Given the description of an element on the screen output the (x, y) to click on. 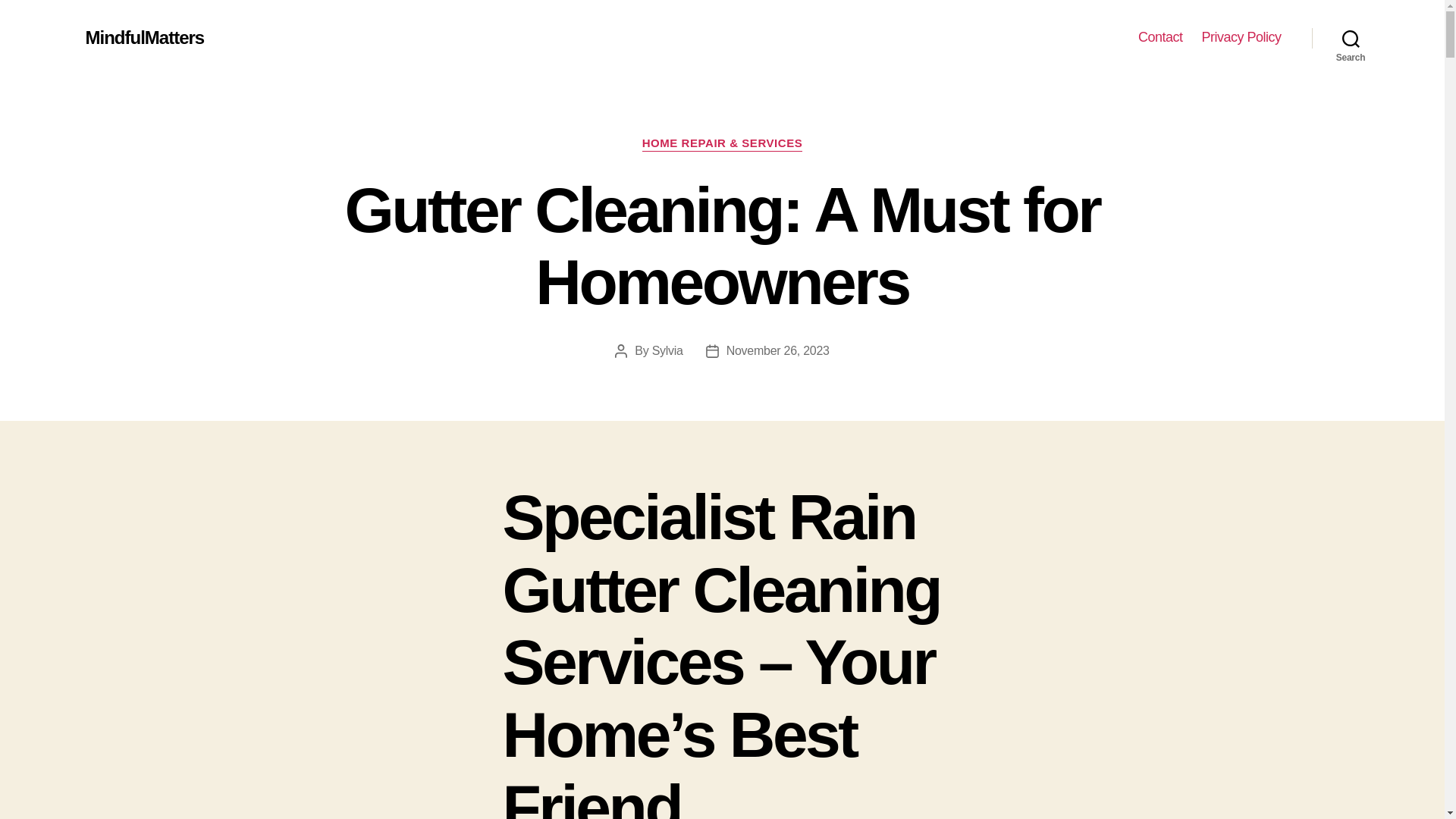
Search (1350, 37)
November 26, 2023 (777, 350)
MindfulMatters (143, 37)
Sylvia (667, 350)
Privacy Policy (1241, 37)
Contact (1160, 37)
